Given the description of an element on the screen output the (x, y) to click on. 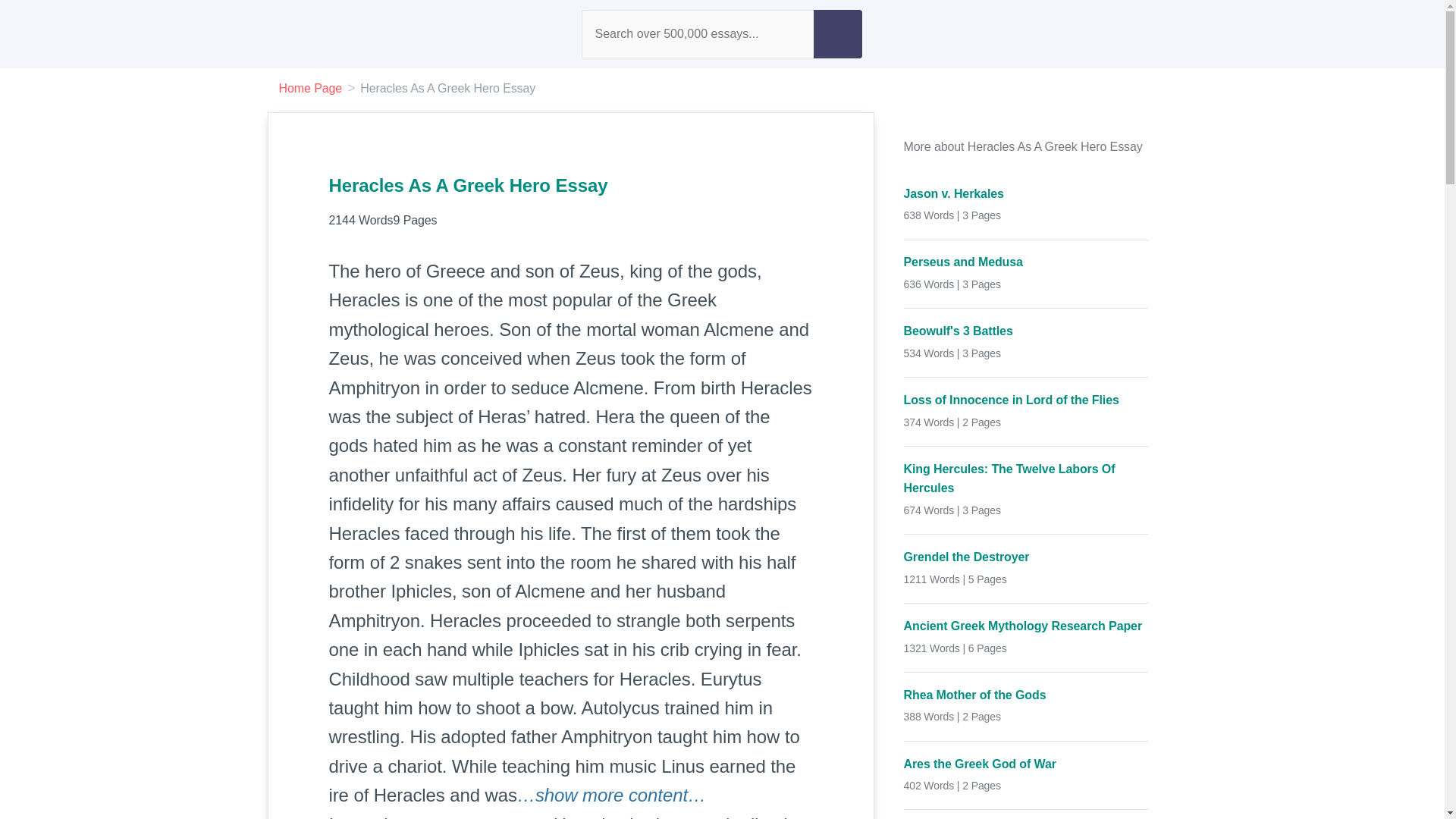
Perseus and Medusa (1026, 261)
Home Page (310, 88)
Rhea Mother of the Gods (1026, 695)
Ancient Greek Mythology Research Paper (1026, 626)
Loss of Innocence in Lord of the Flies (1026, 400)
King Hercules: The Twelve Labors Of Hercules (1026, 478)
Jason v. Herkales (1026, 193)
Beowulf's 3 Battles (1026, 331)
Ares the Greek God of War (1026, 763)
Grendel the Destroyer (1026, 557)
